Given the description of an element on the screen output the (x, y) to click on. 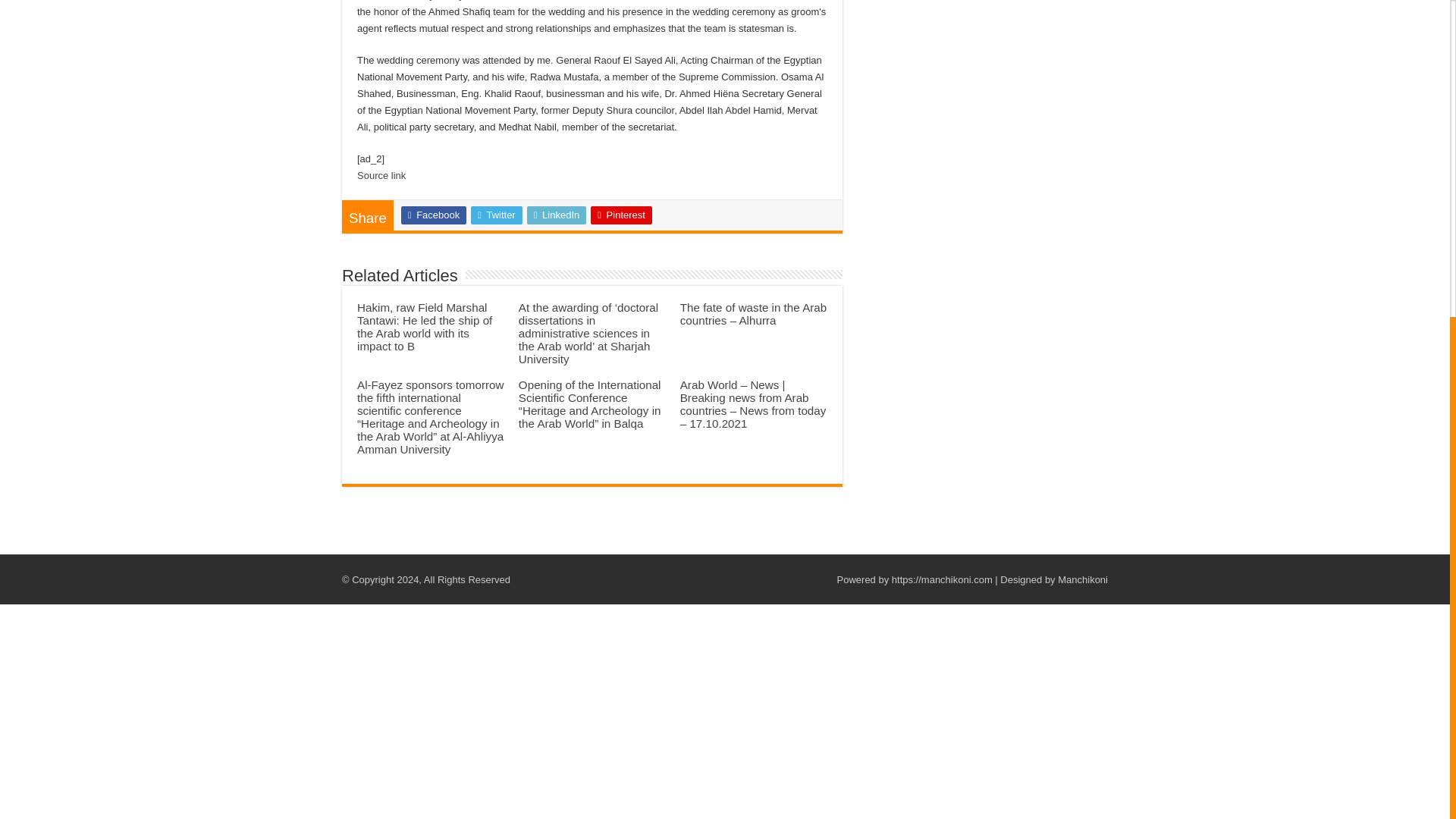
Source link (381, 174)
Twitter (495, 215)
LinkedIn (556, 215)
Facebook (433, 215)
Pinterest (621, 215)
